Given the description of an element on the screen output the (x, y) to click on. 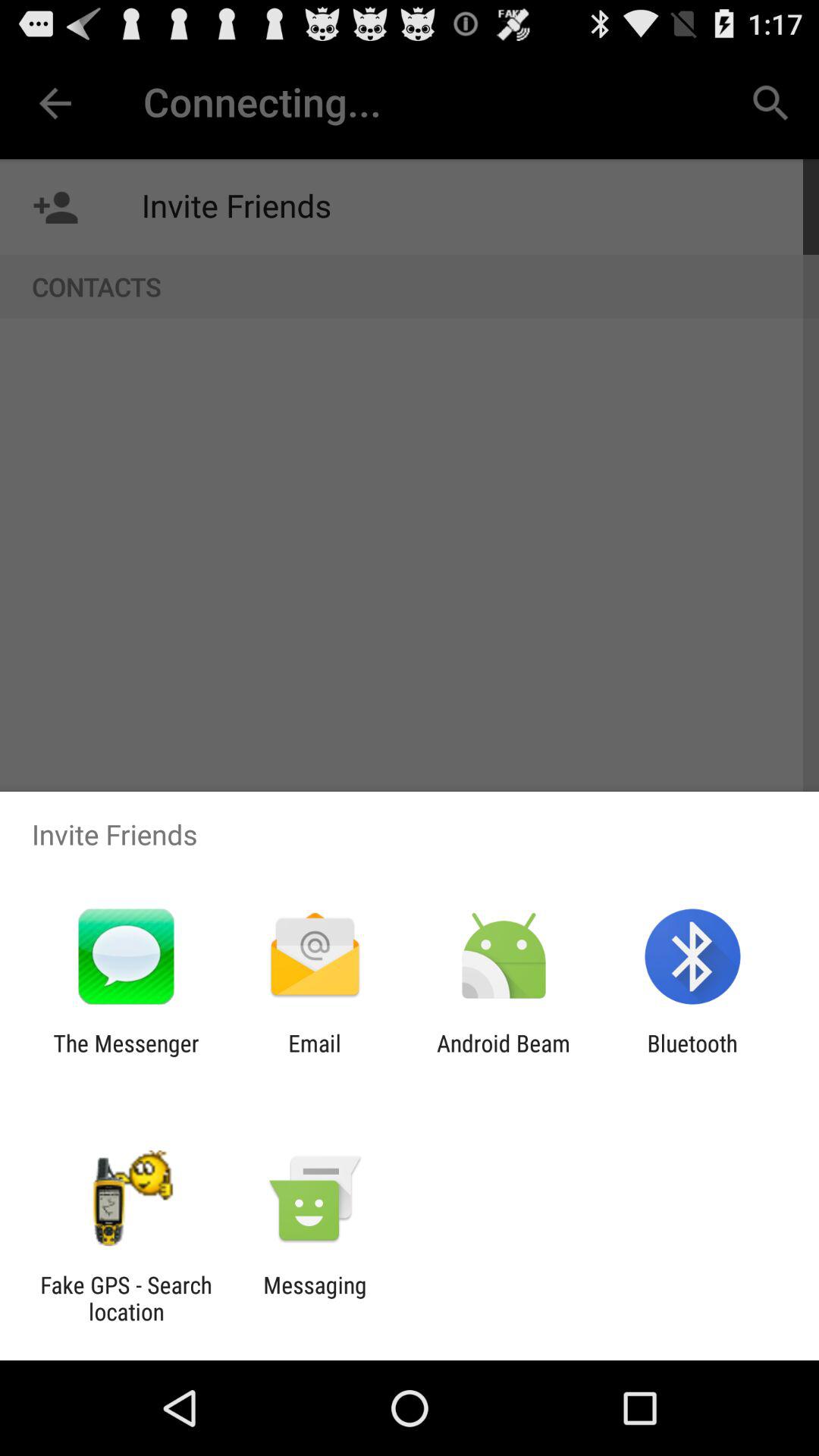
launch the icon next to the android beam (314, 1056)
